Given the description of an element on the screen output the (x, y) to click on. 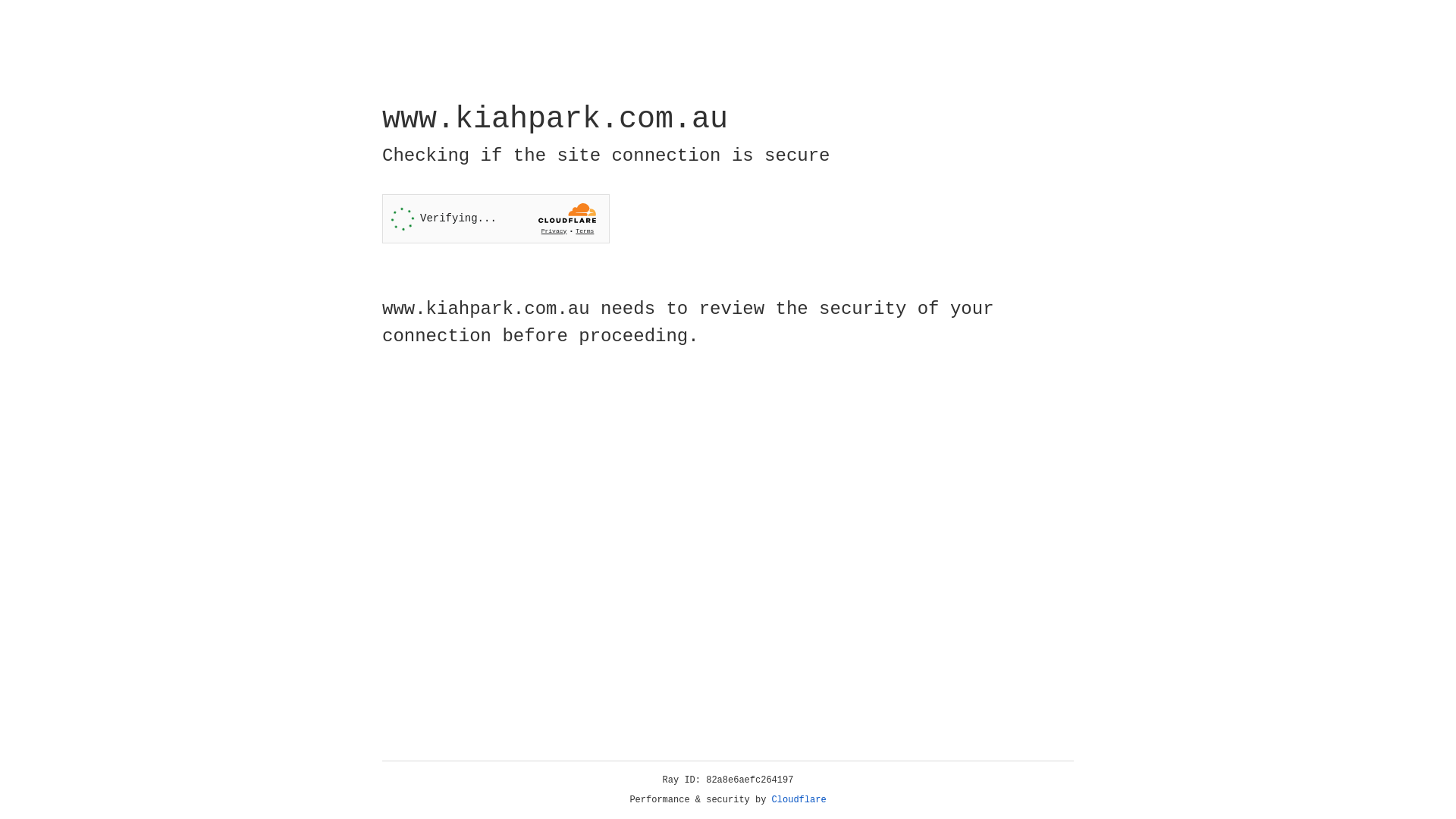
Cloudflare Element type: text (798, 799)
Widget containing a Cloudflare security challenge Element type: hover (495, 218)
